Given the description of an element on the screen output the (x, y) to click on. 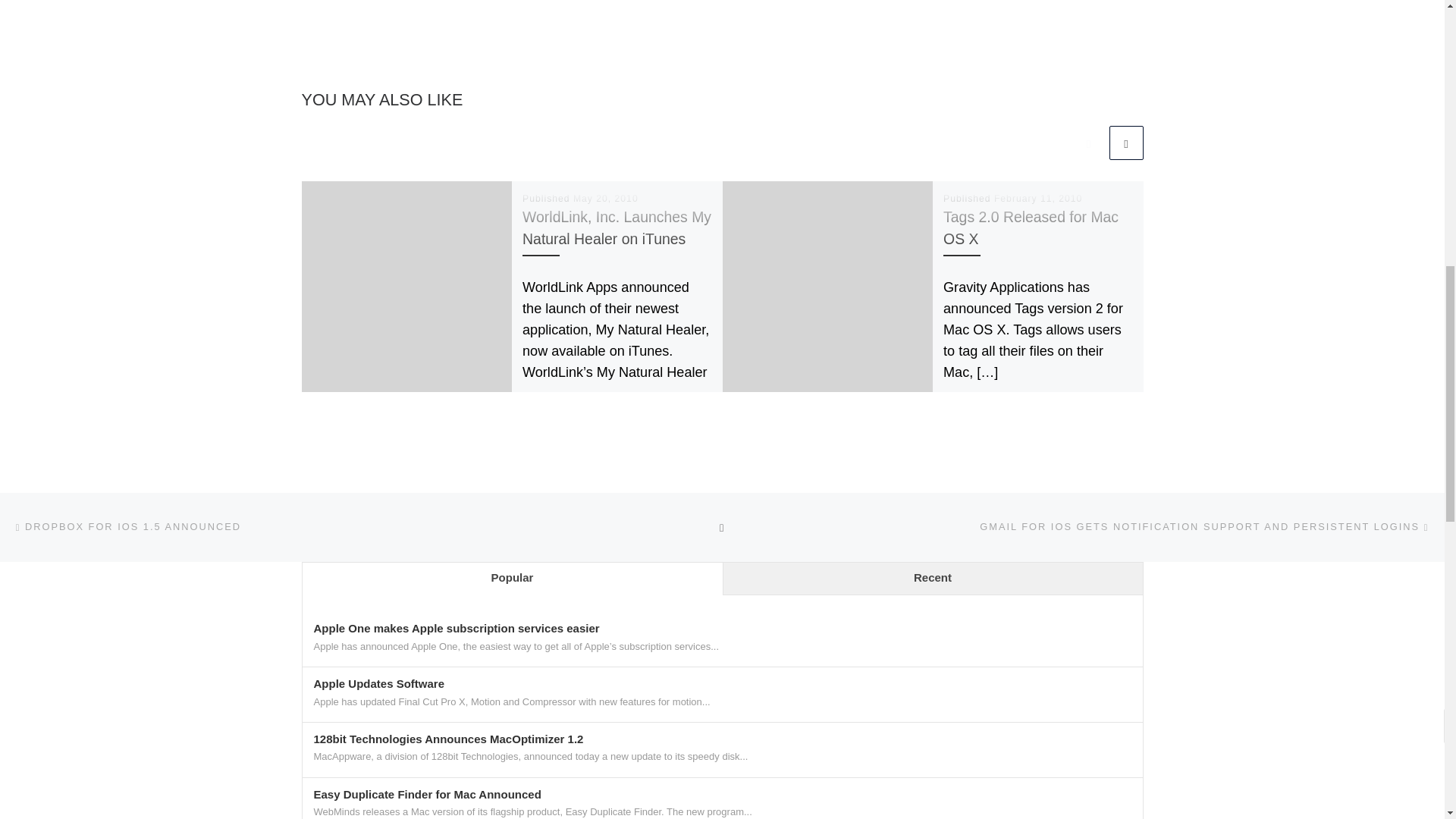
Next related articles (1125, 142)
Previous related articles (1088, 142)
